Given the description of an element on the screen output the (x, y) to click on. 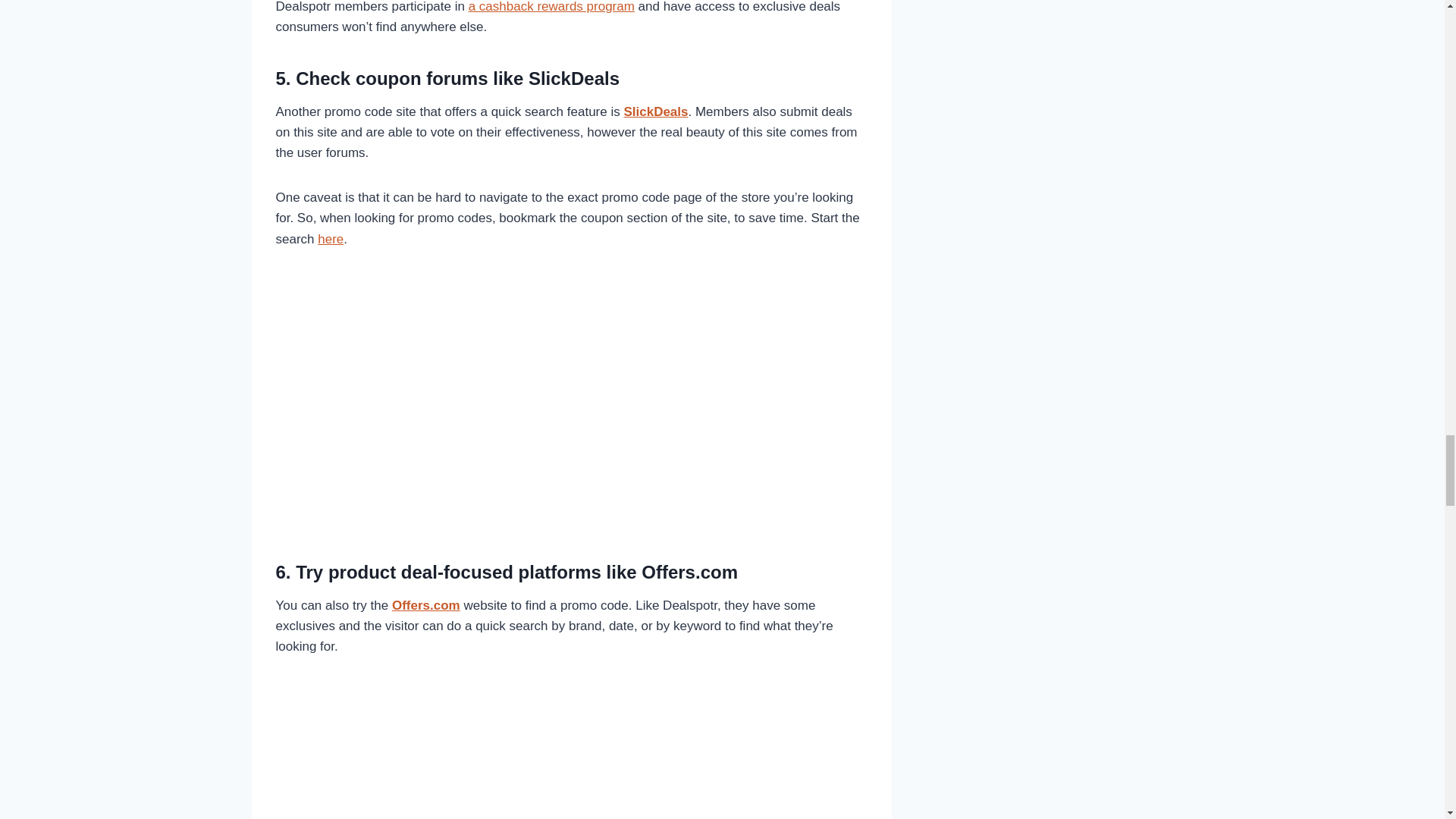
a cashback rewards program (551, 6)
Offers.com (425, 605)
SlickDeals (655, 111)
here (330, 238)
